Given the description of an element on the screen output the (x, y) to click on. 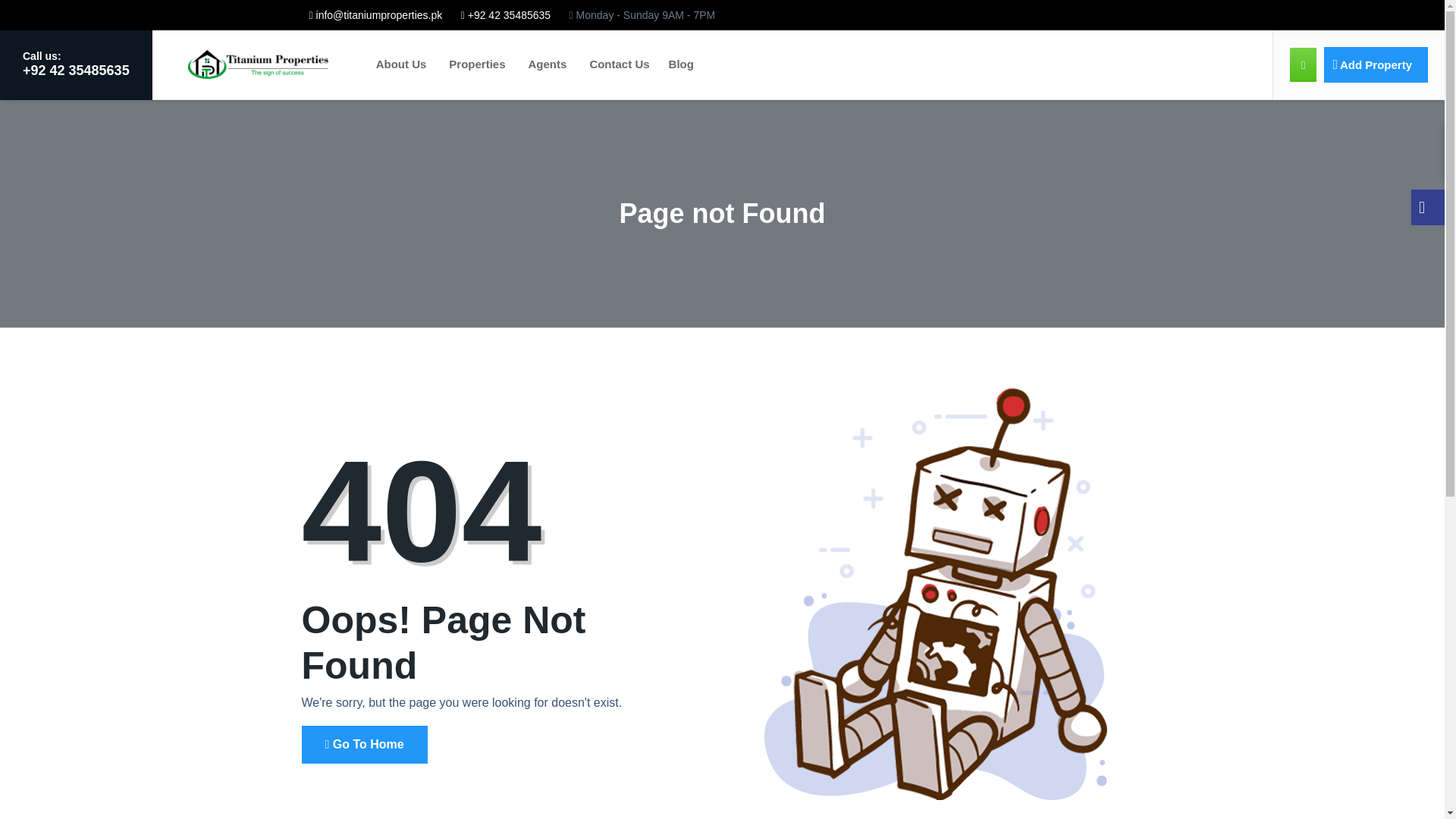
Agents (547, 64)
About Us (401, 64)
Contact Us (619, 64)
Add Property (1375, 64)
Properties (477, 64)
Go To Home (364, 744)
Monday - Sunday 9AM - 7PM (642, 15)
